Given the description of an element on the screen output the (x, y) to click on. 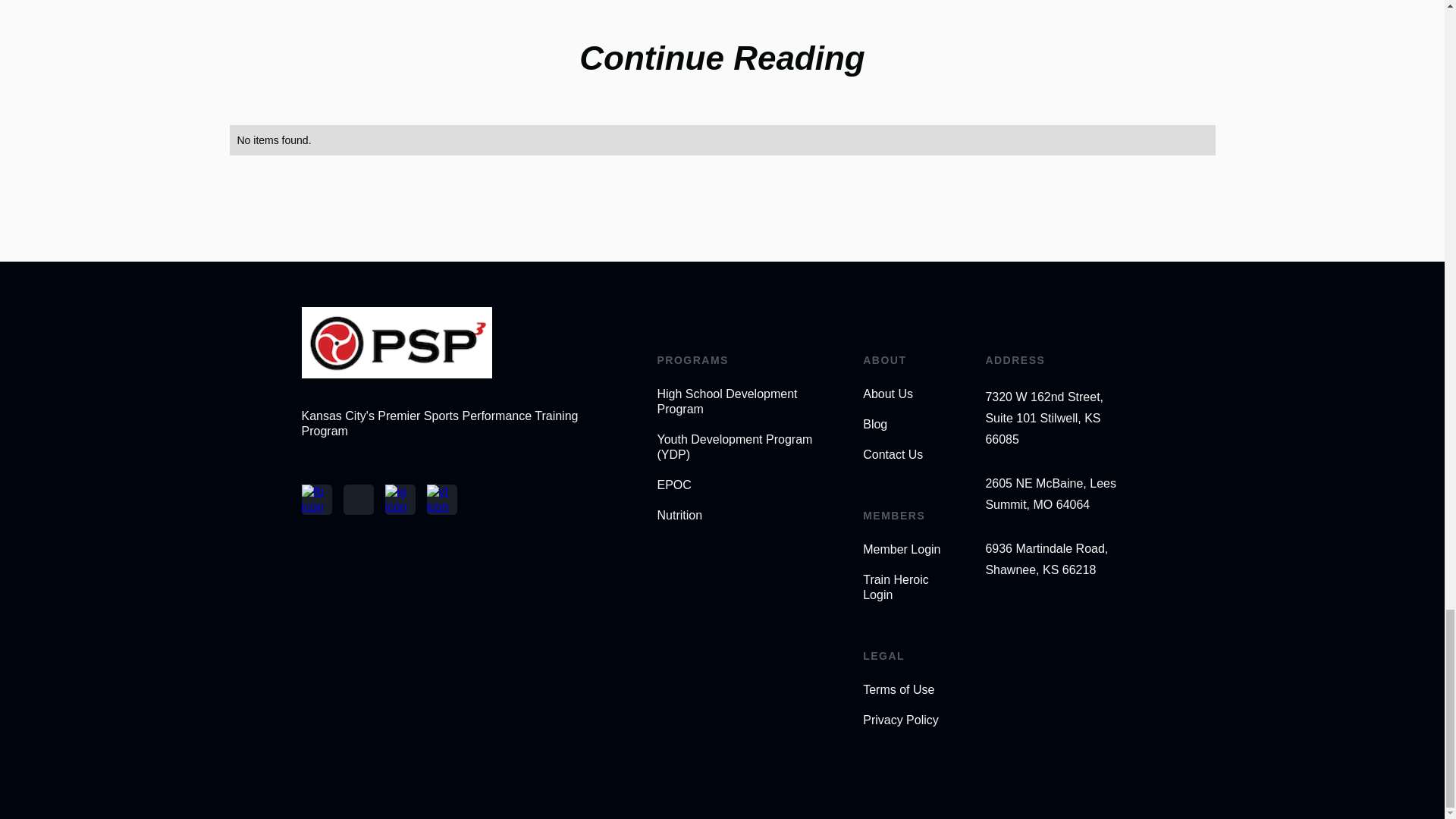
Nutrition (742, 515)
Blog (907, 424)
Privacy Policy (907, 720)
Member Login (907, 549)
About Us (907, 394)
High School Development Program (742, 401)
Train Heroic Login (907, 587)
EPOC (742, 485)
Contact Us (907, 454)
Terms of Use (907, 689)
